Given the description of an element on the screen output the (x, y) to click on. 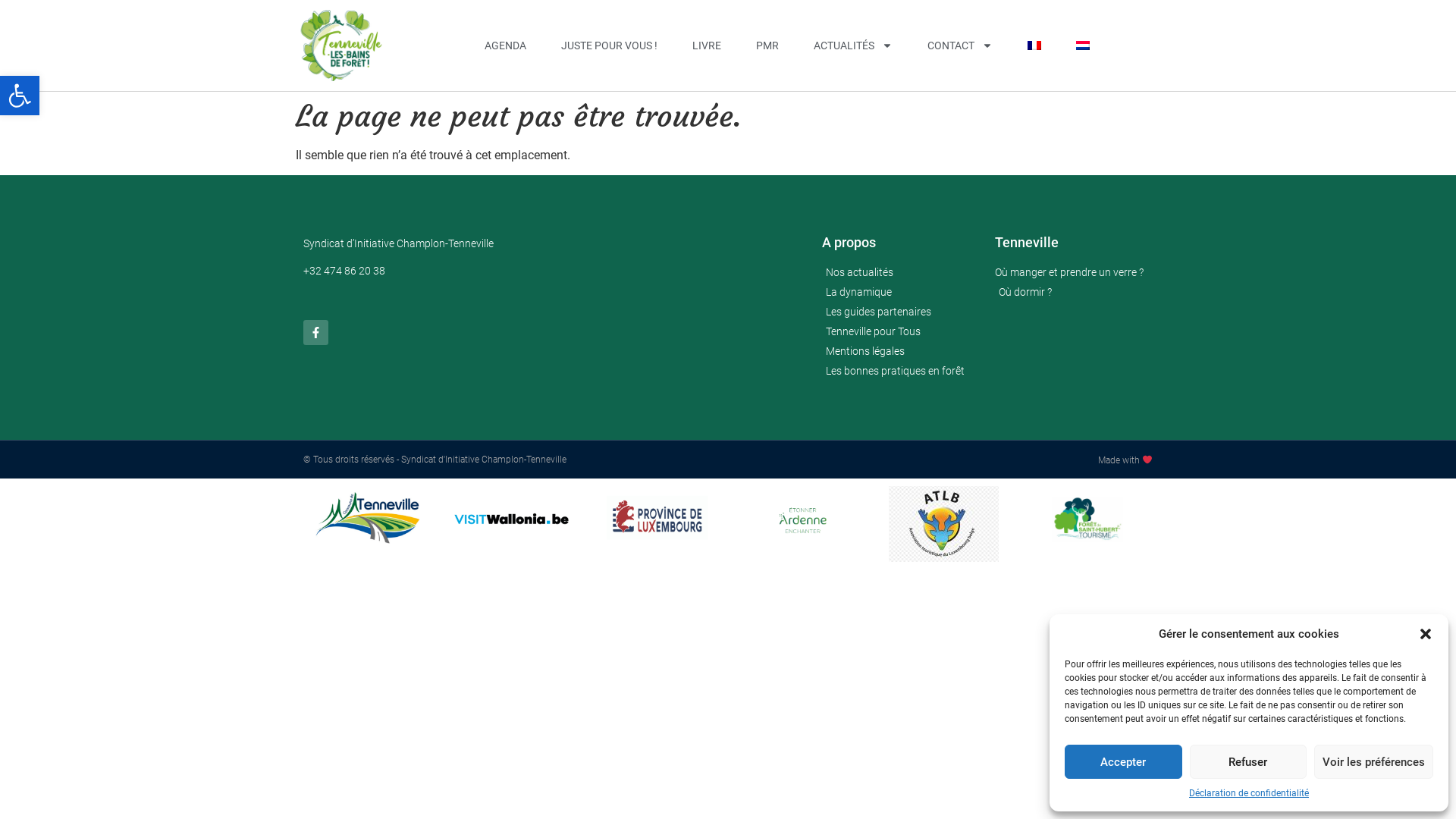
Les guides partenaires Element type: text (900, 312)
atlb Element type: hover (943, 523)
AGENDA Element type: text (505, 45)
JUSTE POUR VOUS ! Element type: text (609, 45)
Tenneville pour Tous Element type: text (900, 331)
LIVRE Element type: text (706, 45)
Refuser Element type: text (1247, 761)
PMR Element type: text (766, 45)
CONTACT Element type: text (959, 45)
logos Element type: hover (1087, 520)
Accepter Element type: text (1123, 761)
La dynamique Element type: text (900, 292)
